Given the description of an element on the screen output the (x, y) to click on. 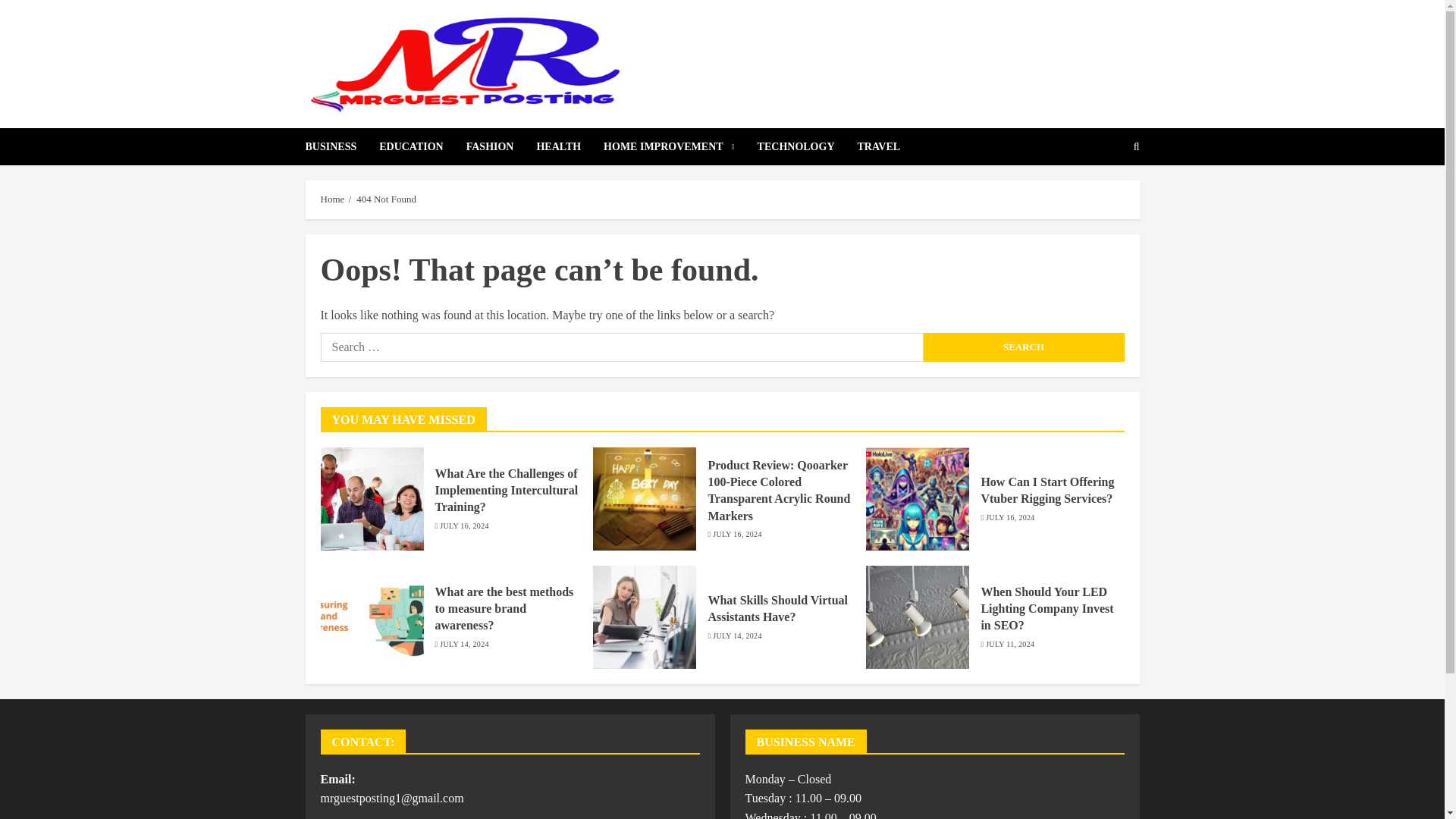
JULY 11, 2024 (1009, 644)
Search (1023, 346)
Search (1023, 346)
JULY 16, 2024 (737, 534)
Search (1099, 192)
HOME IMPROVEMENT (680, 146)
Home (331, 199)
EDUCATION (421, 146)
Search (1023, 346)
JULY 14, 2024 (463, 644)
JULY 14, 2024 (737, 635)
JULY 16, 2024 (463, 525)
When Should Your LED Lighting Company Invest in SEO? (1046, 609)
TRAVEL (879, 146)
